Given the description of an element on the screen output the (x, y) to click on. 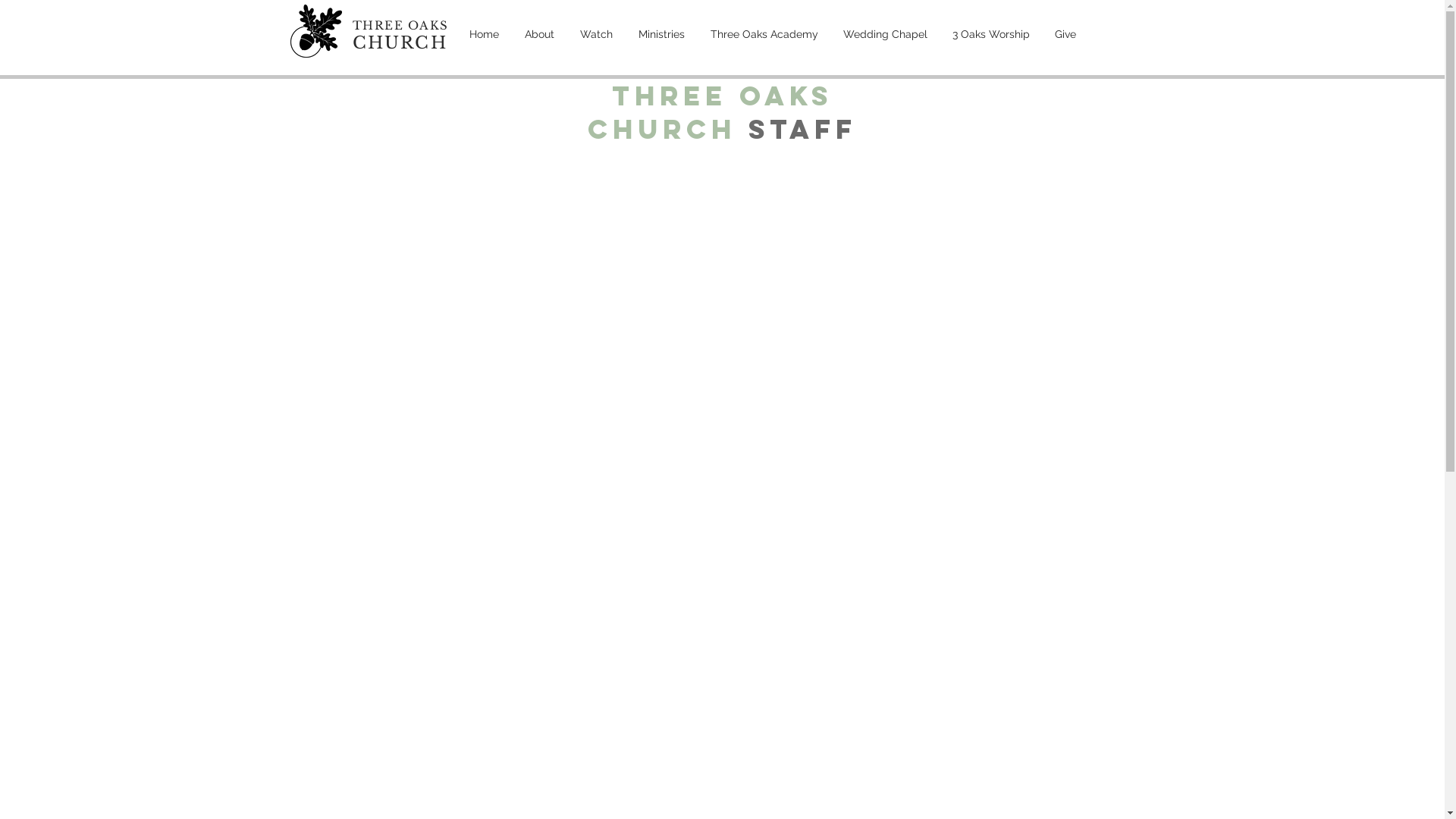
Three Oaks Academy Element type: text (764, 34)
Give Element type: text (1064, 34)
3 Oaks Worship Element type: text (991, 34)
Wedding Chapel Element type: text (885, 34)
About Element type: text (538, 34)
Home Element type: text (483, 34)
Watch Element type: text (596, 34)
